Given the description of an element on the screen output the (x, y) to click on. 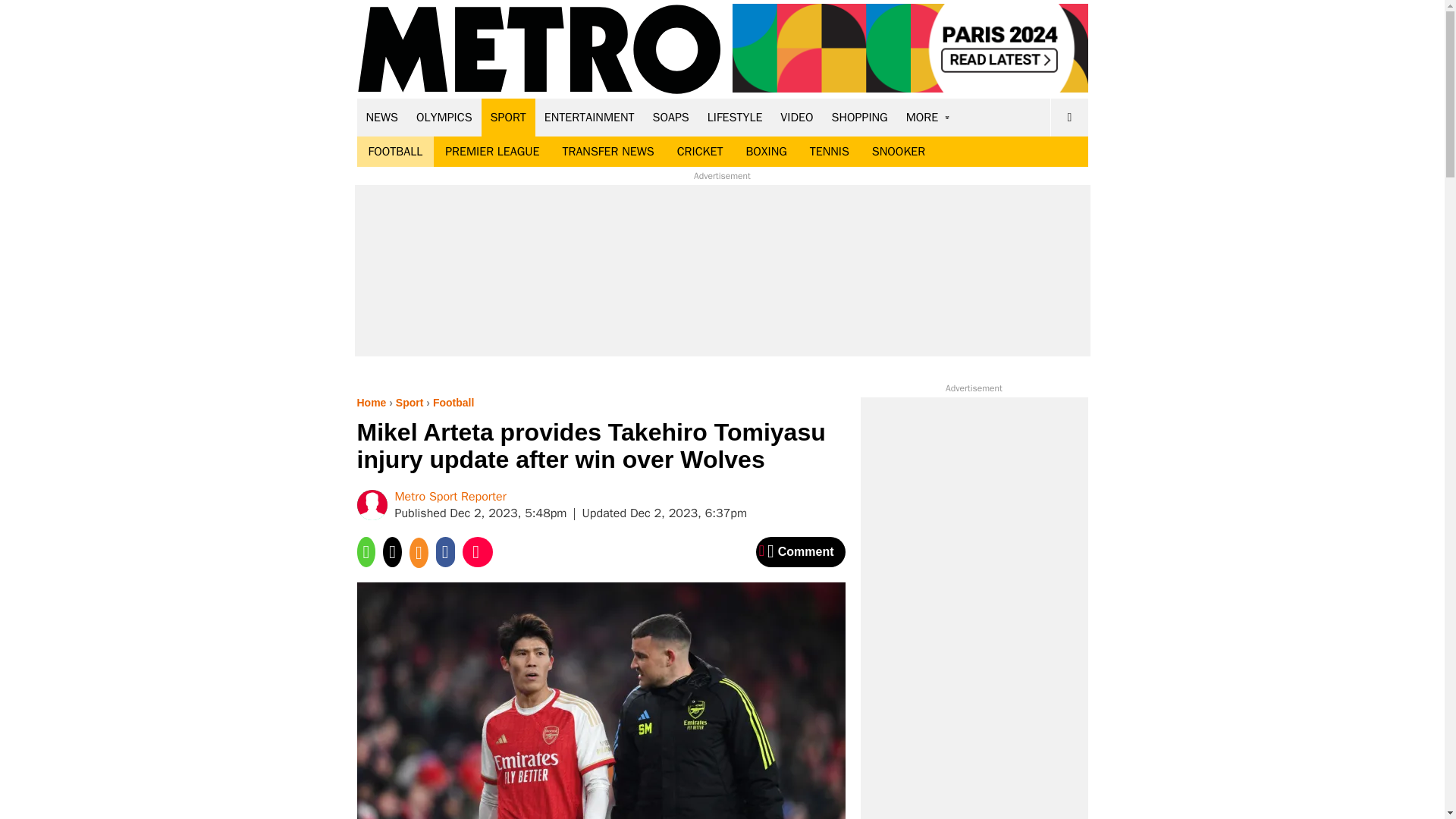
Metro (539, 50)
ENTERTAINMENT (589, 117)
PREMIER LEAGUE (491, 151)
NEWS (381, 117)
CRICKET (700, 151)
TENNIS (828, 151)
BOXING (765, 151)
LIFESTYLE (734, 117)
SPORT (508, 117)
FOOTBALL (394, 151)
SOAPS (670, 117)
OLYMPICS (444, 117)
TRANSFER NEWS (607, 151)
SNOOKER (898, 151)
